Given the description of an element on the screen output the (x, y) to click on. 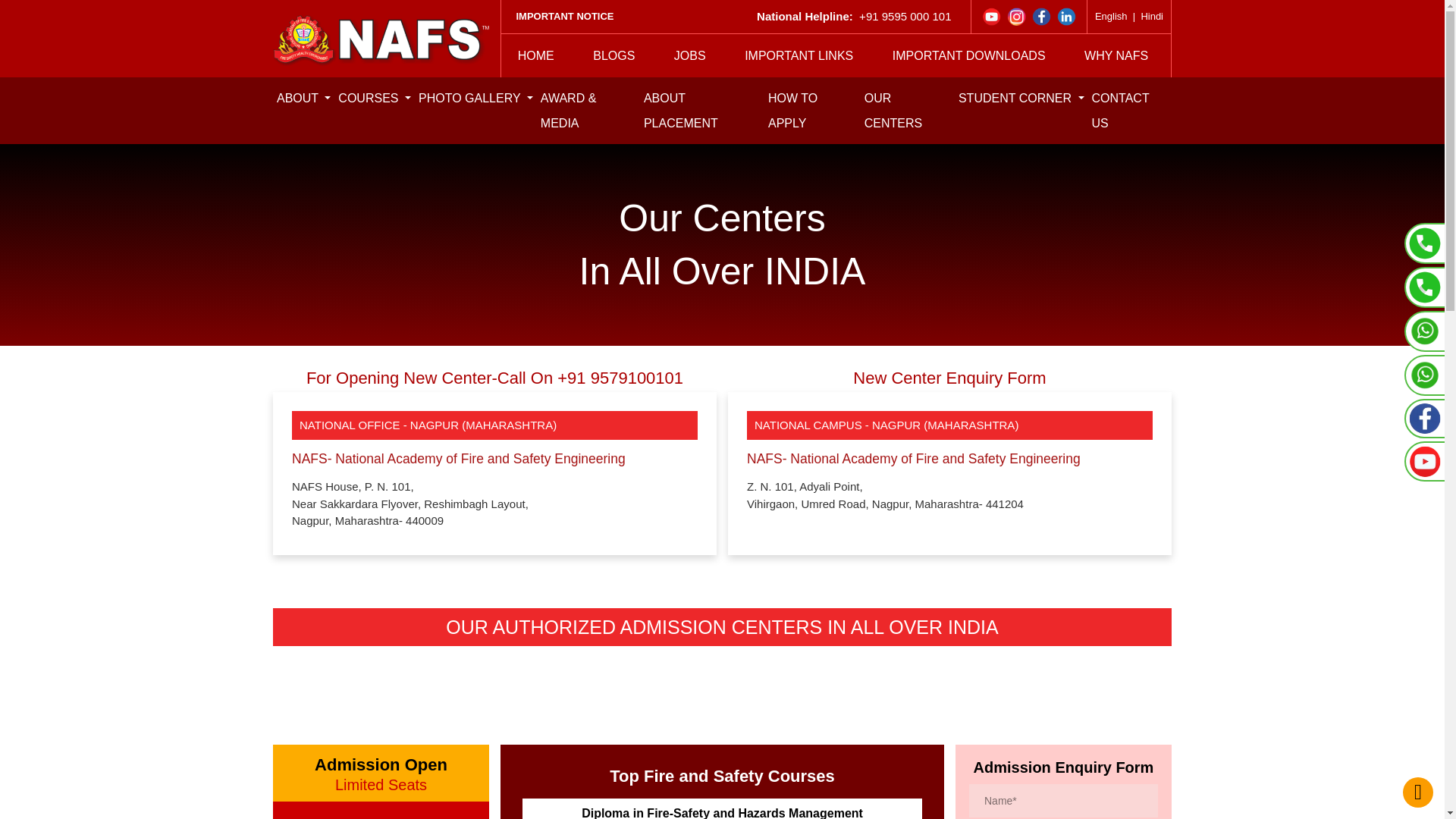
IMPORTANT DOWNLOADS (968, 55)
HOME (536, 55)
BLOGS (613, 55)
IMPORTANT NOTICE (563, 16)
COURSES (374, 97)
JOBS (690, 55)
IMPORTANT LINKS (798, 55)
ABOUT (303, 97)
WHY NAFS (1116, 55)
